Given the description of an element on the screen output the (x, y) to click on. 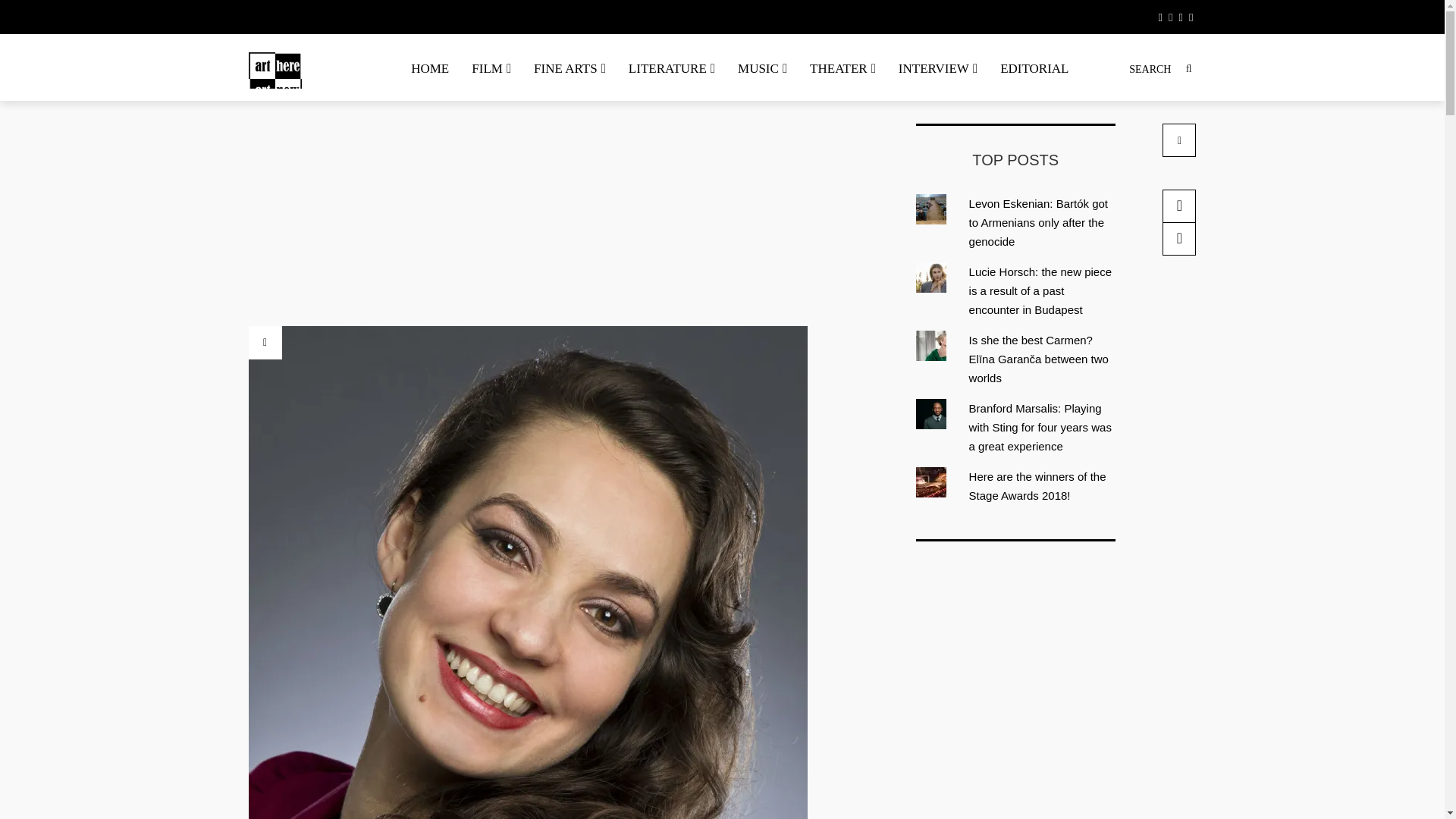
FINE ARTS (569, 68)
FILM (491, 68)
MUSIC (761, 68)
LITERATURE (671, 68)
THEATER (841, 68)
Here are the winners of the Stage Awards 2018! (1037, 486)
HOME (429, 68)
